Given the description of an element on the screen output the (x, y) to click on. 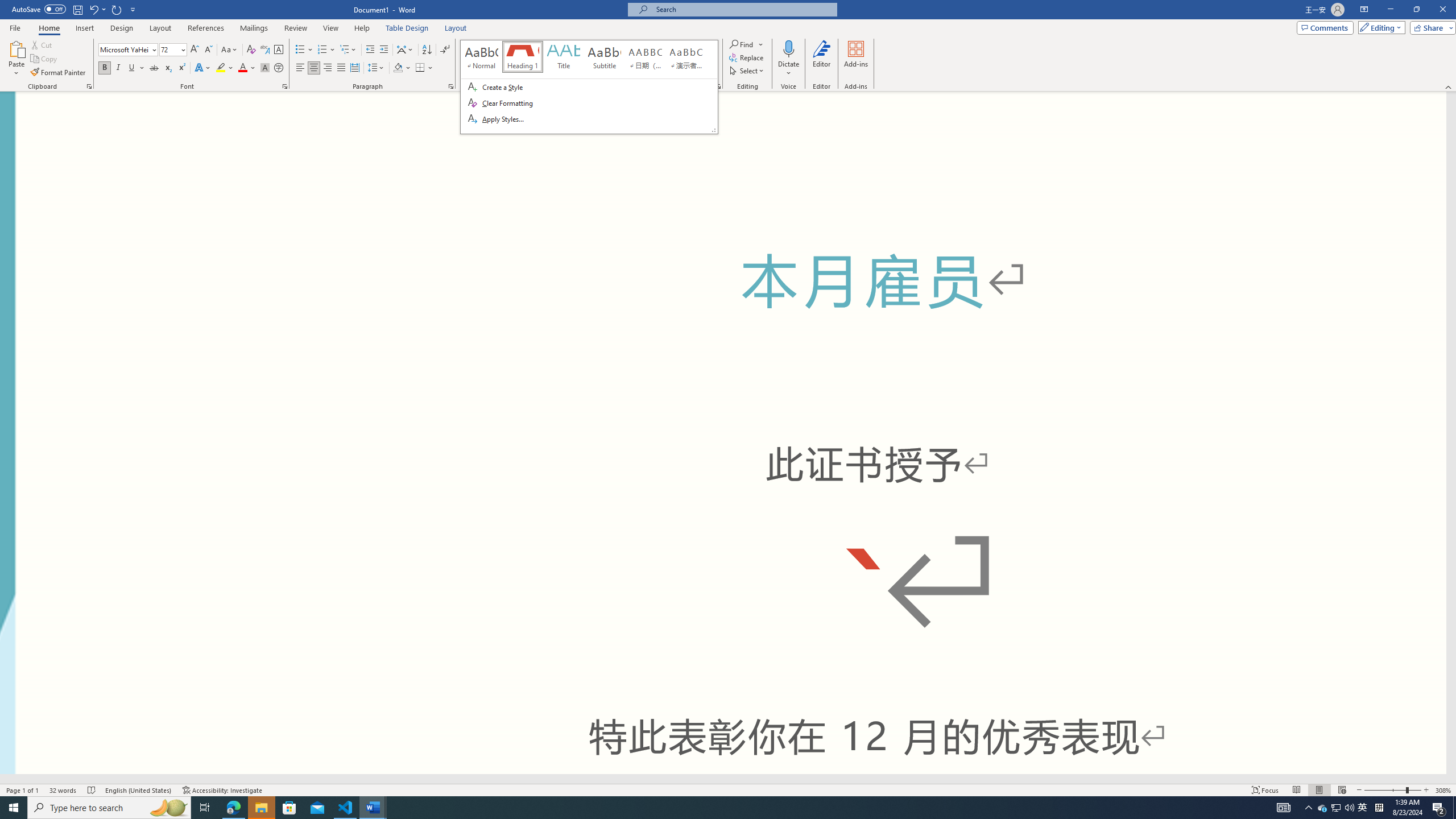
Page Number Page 1 of 1 (22, 790)
Character Border (278, 49)
Character Shading (264, 67)
Spelling and Grammar Check No Errors (91, 790)
Editing (1379, 27)
Visual Studio Code - 1 running window (345, 807)
Format Painter (1322, 807)
